Given the description of an element on the screen output the (x, y) to click on. 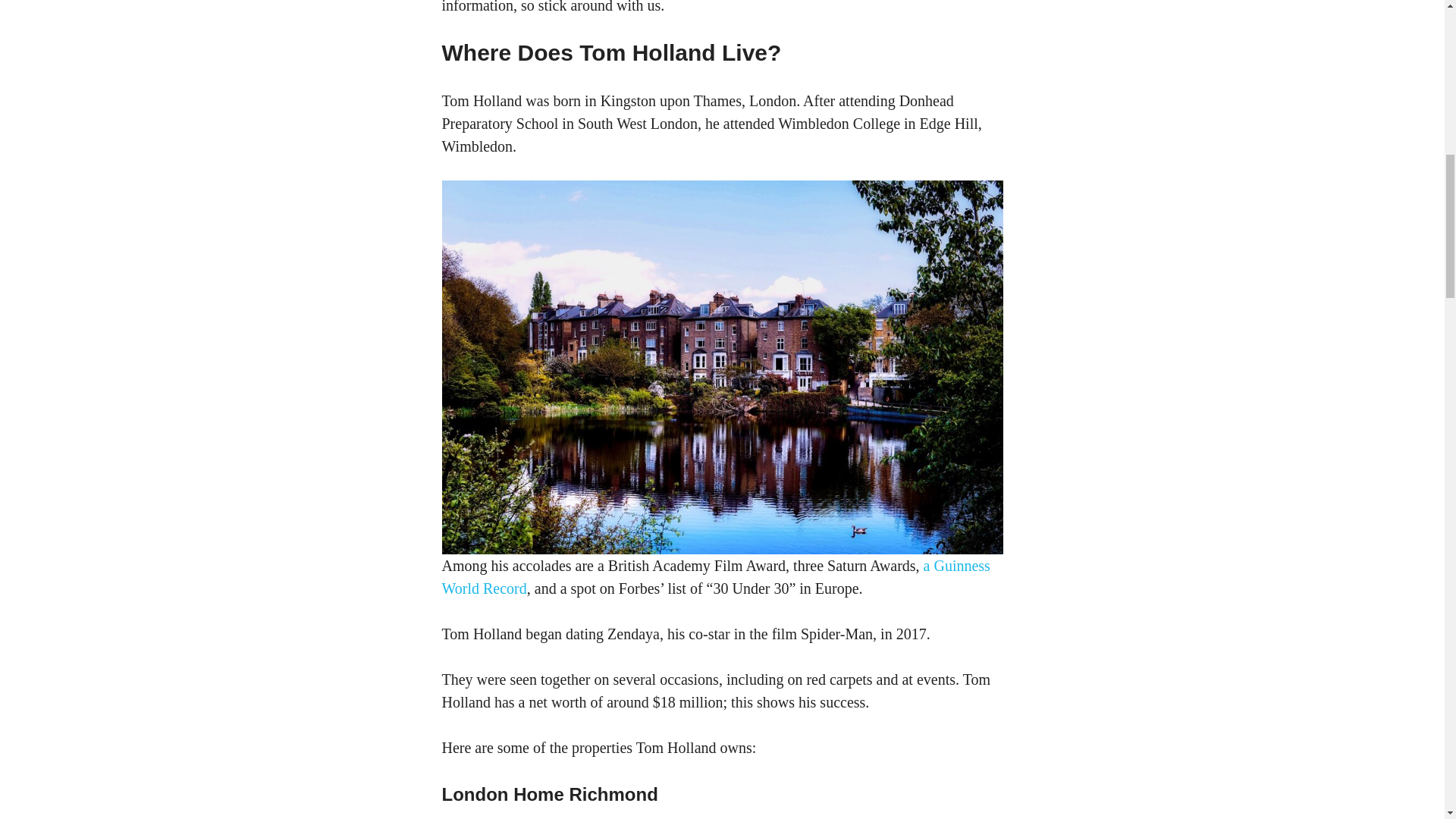
a Guinness World Record (715, 577)
